Given the description of an element on the screen output the (x, y) to click on. 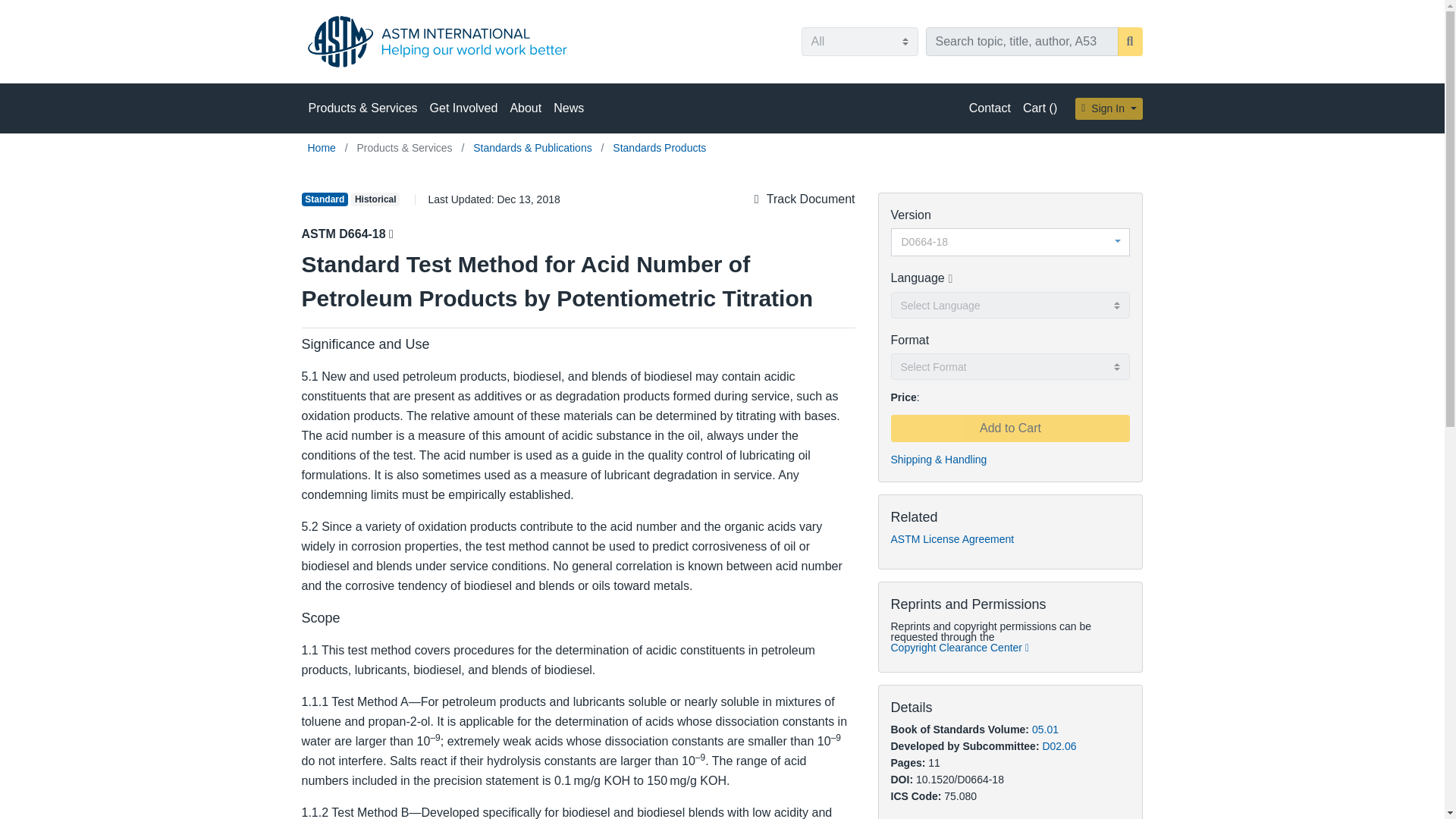
Add to Cart (1009, 428)
All (858, 41)
Go to Home Page (323, 147)
